Given the description of an element on the screen output the (x, y) to click on. 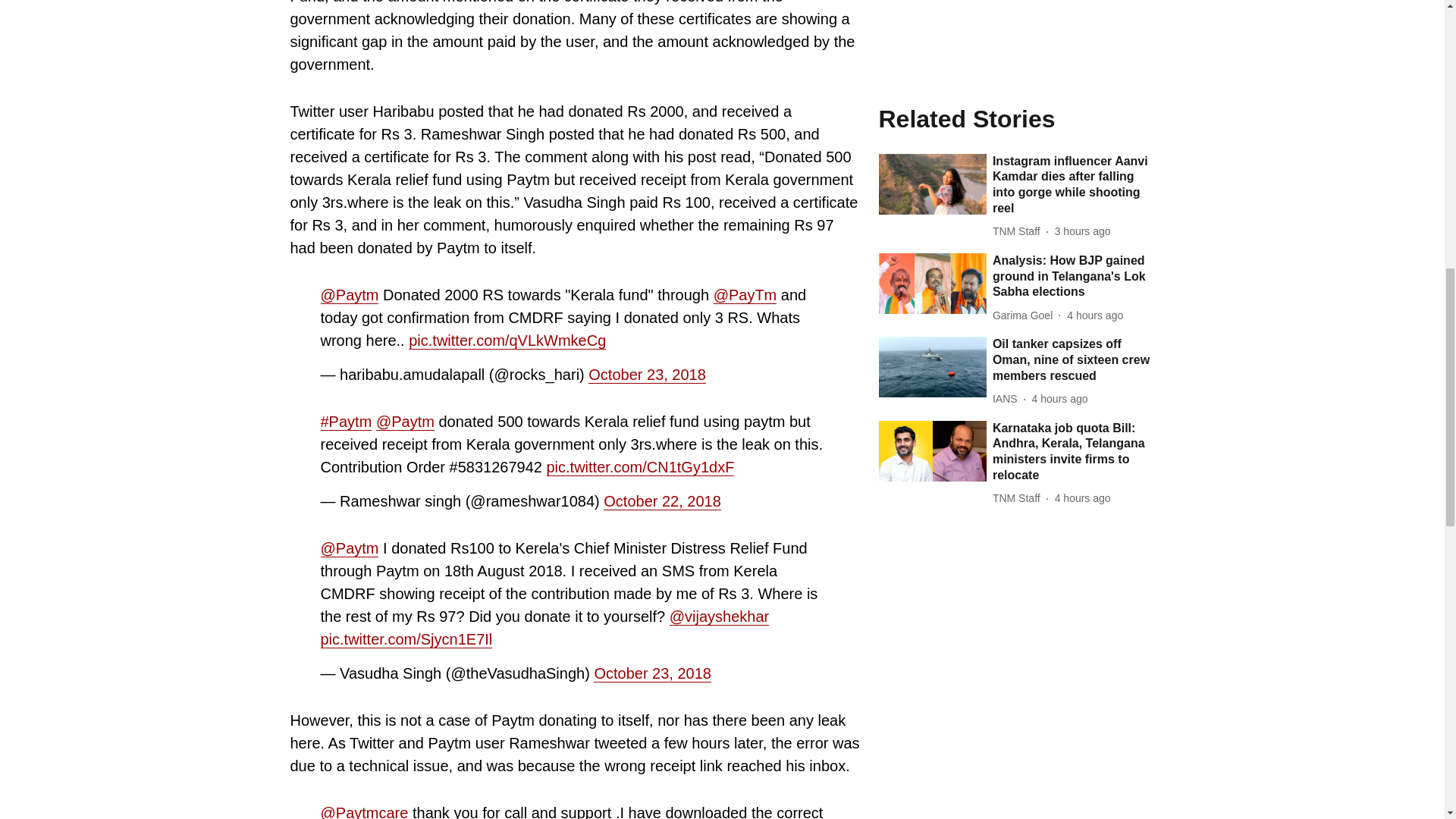
October 23, 2018 (647, 375)
October 23, 2018 (652, 673)
October 22, 2018 (662, 501)
